Given the description of an element on the screen output the (x, y) to click on. 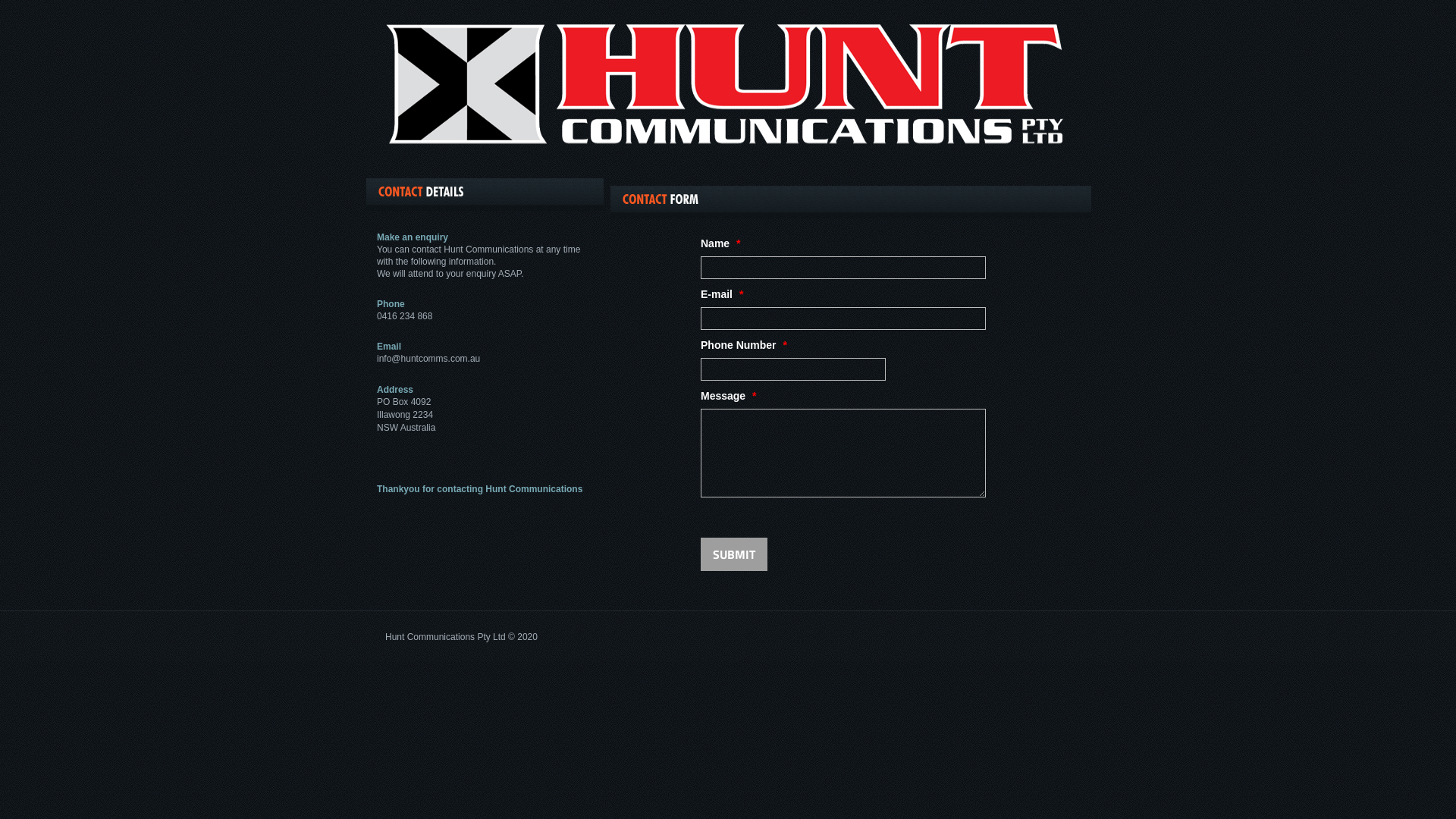
SUBMIT Element type: text (733, 554)
